Given the description of an element on the screen output the (x, y) to click on. 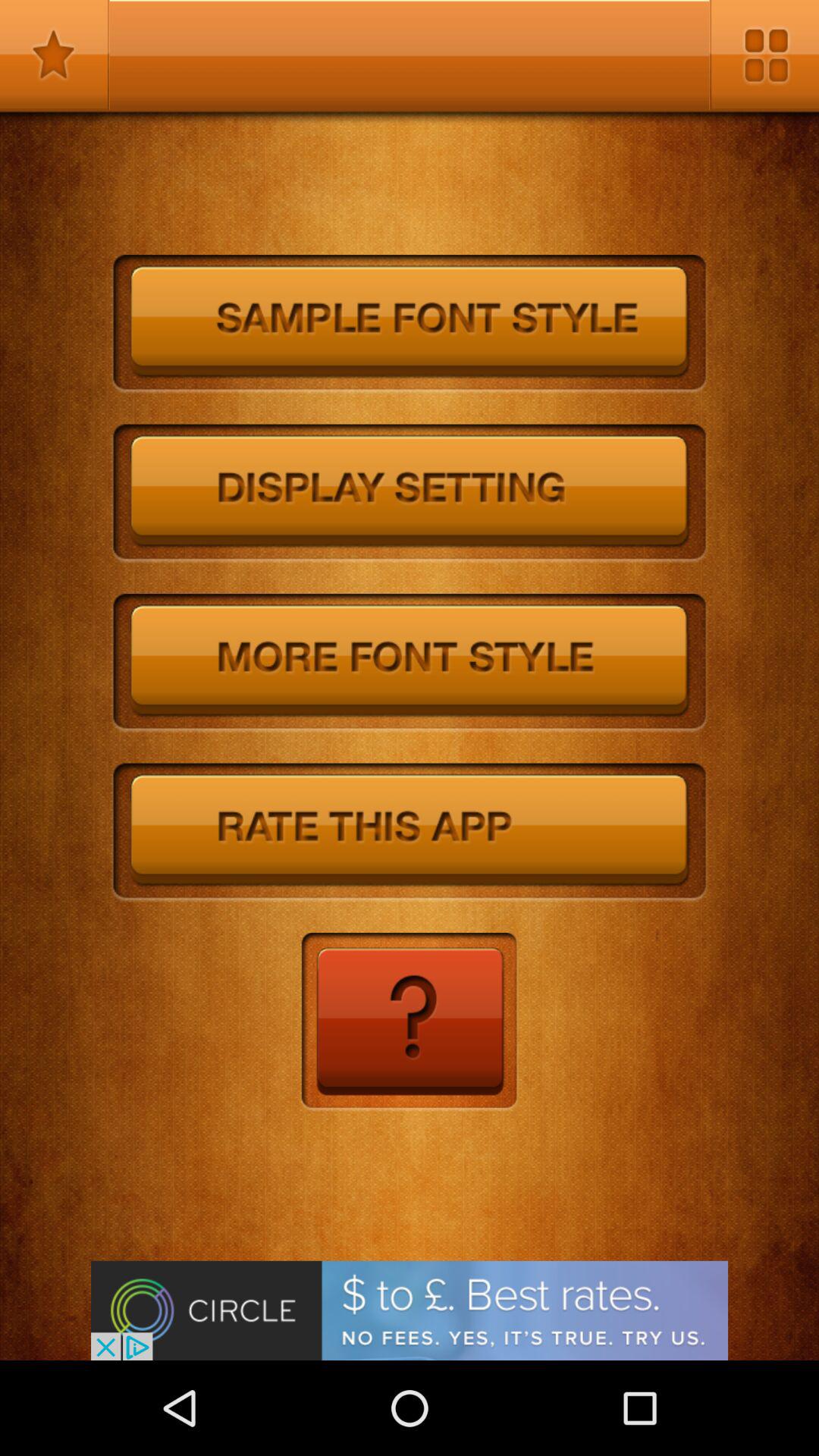
display settings button (409, 493)
